Given the description of an element on the screen output the (x, y) to click on. 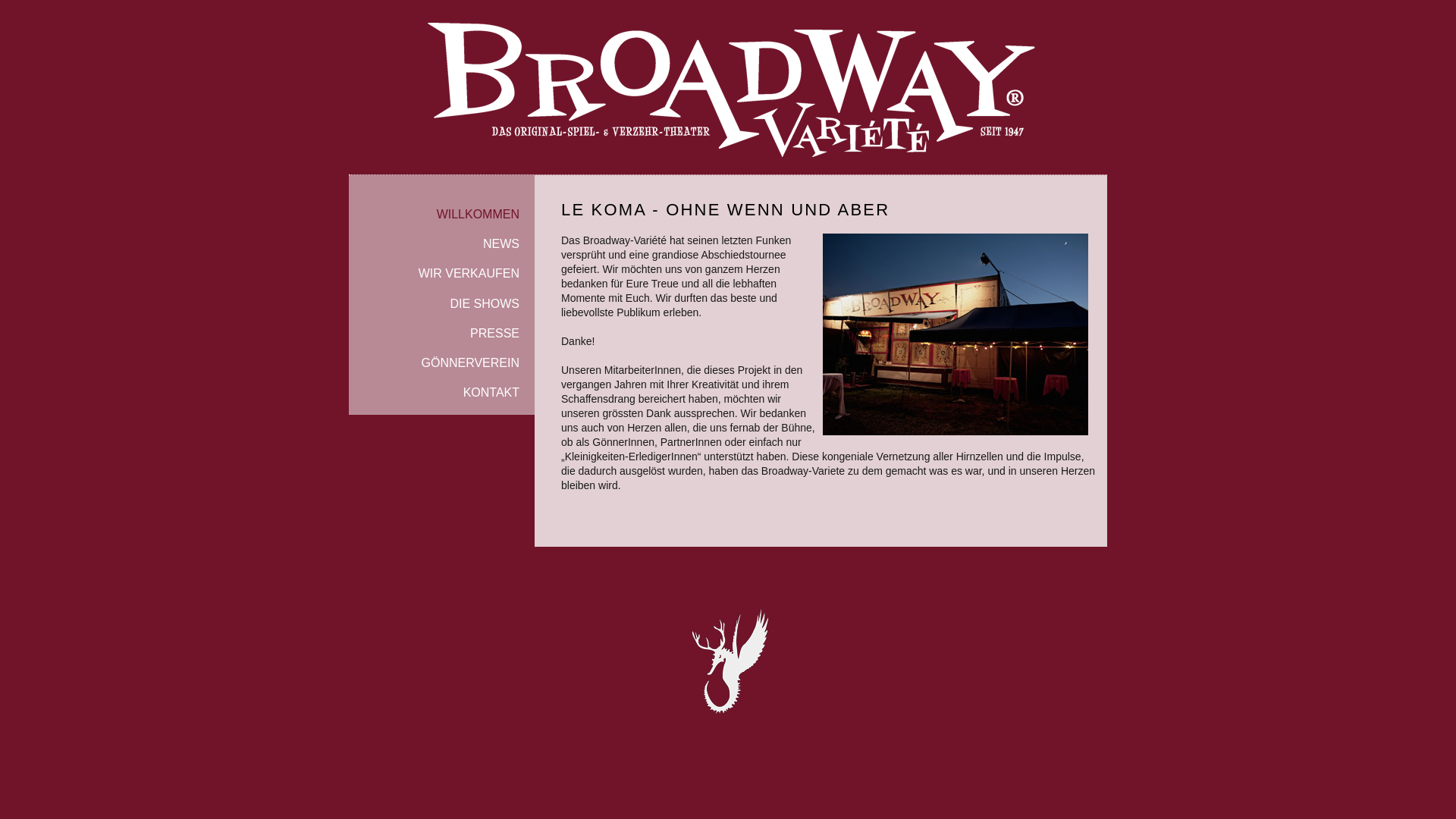
DIE SHOWS Element type: text (433, 298)
WIR VERKAUFEN Element type: text (433, 268)
KONTAKT Element type: text (433, 387)
NEWS Element type: text (433, 239)
WILLKOMMEN Element type: text (433, 209)
PRESSE Element type: text (433, 328)
